Given the description of an element on the screen output the (x, y) to click on. 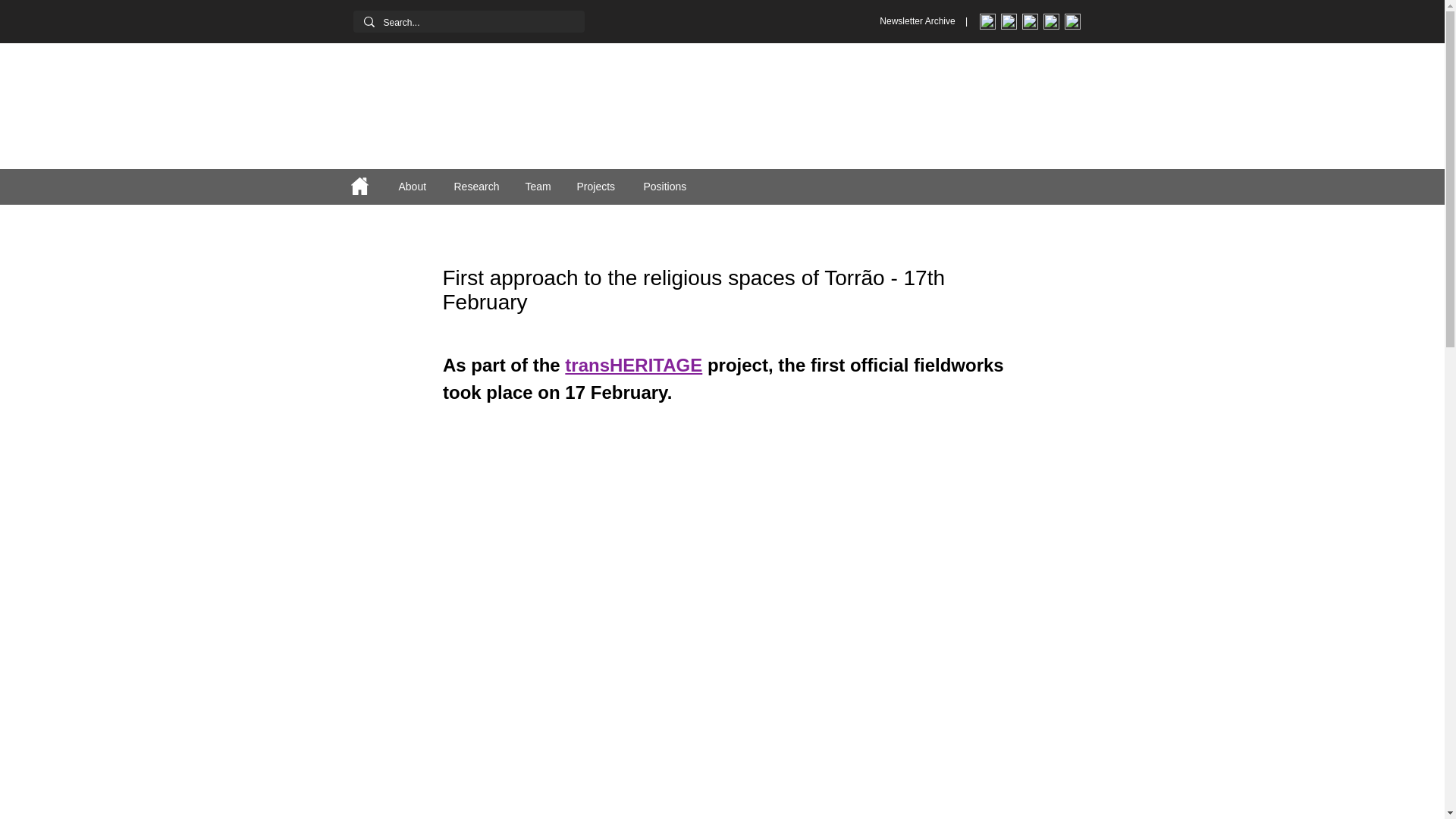
Positions (667, 186)
About (414, 186)
transHERITAGE (632, 367)
Projects (598, 186)
Research (477, 186)
Team (539, 186)
